Given the description of an element on the screen output the (x, y) to click on. 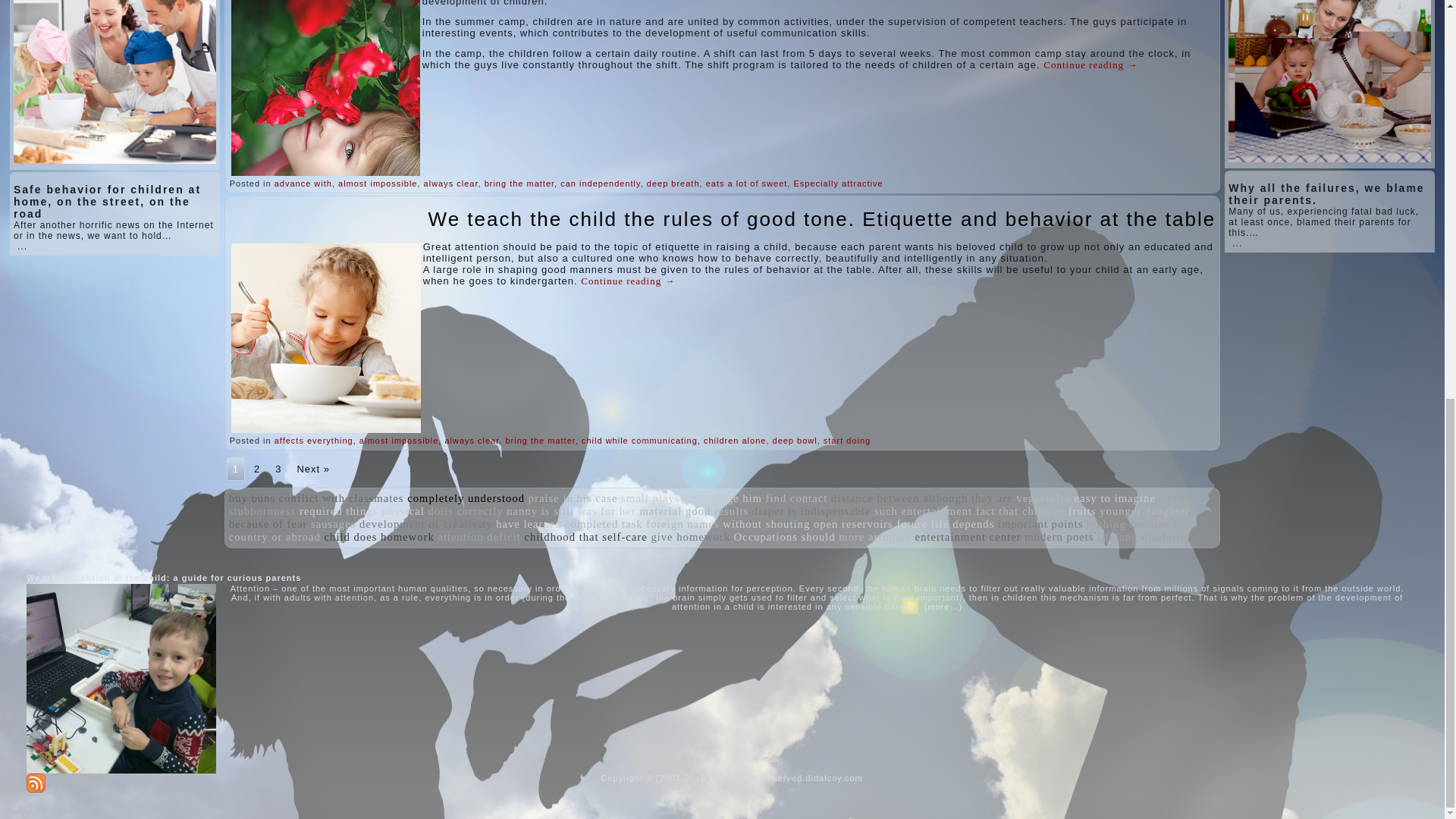
almost impossible (376, 183)
10 topics (465, 498)
... (22, 245)
bring the matter (519, 183)
7 topics (251, 498)
advance with (303, 183)
always clear (451, 183)
7 topics (341, 498)
